Given the description of an element on the screen output the (x, y) to click on. 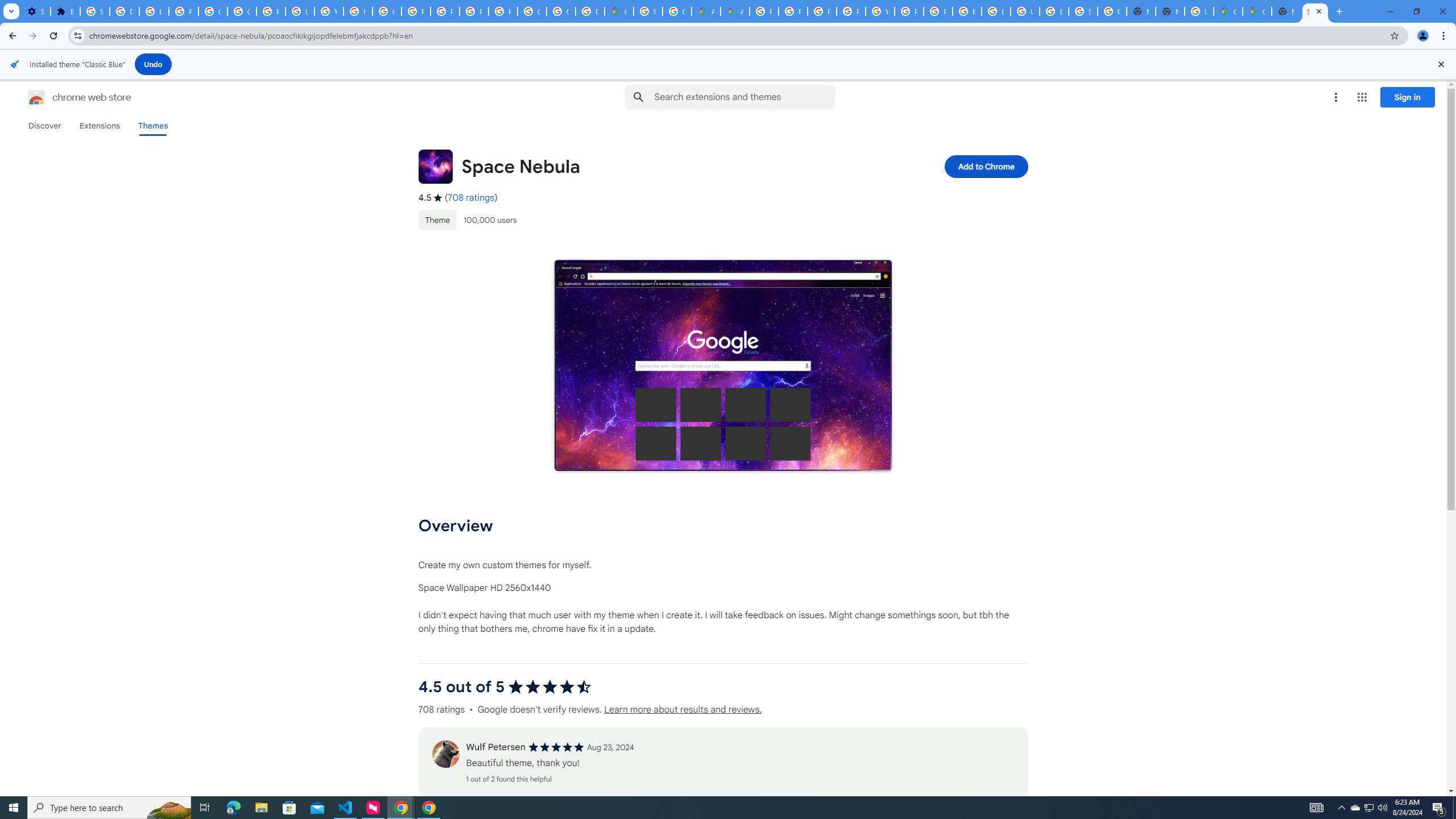
4.5 out of 5 stars (549, 686)
Privacy Help Center - Policies Help (821, 11)
Item logo image for Space Nebula (434, 166)
New Tab (1169, 11)
Search input (744, 96)
Discover (43, 125)
You (1422, 35)
YouTube (327, 11)
Settings - On startup (35, 11)
Bookmark this tab (1393, 35)
Sign in - Google Accounts (95, 11)
Space Nebula - Chrome Web Store (1315, 11)
Google Maps (1227, 11)
Undo (153, 64)
